Given the description of an element on the screen output the (x, y) to click on. 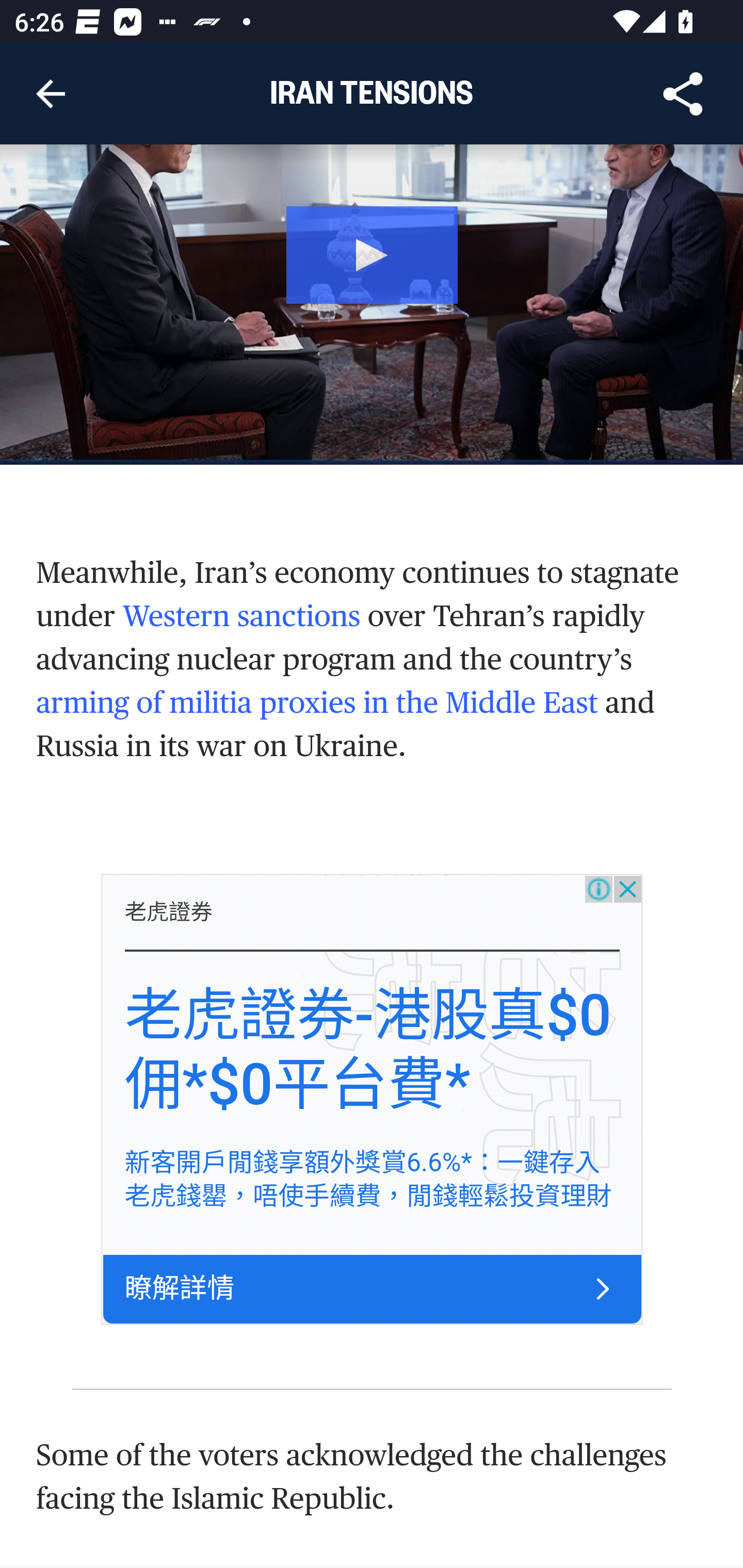
Navigate up (50, 93)
Share Article, button (683, 94)
Video Player Unable to play media. Play   (371, 306)
Play (372, 253)
Western sanctions (240, 616)
arming of militia proxies in the Middle East (317, 704)
老虎證券 (168, 914)
老虎證券-港股真$0 佣*$0平台費* 老虎證券-港股真$0 佣*$0平台費* (367, 1052)
瞭解詳情 (178, 1290)
